Given the description of an element on the screen output the (x, y) to click on. 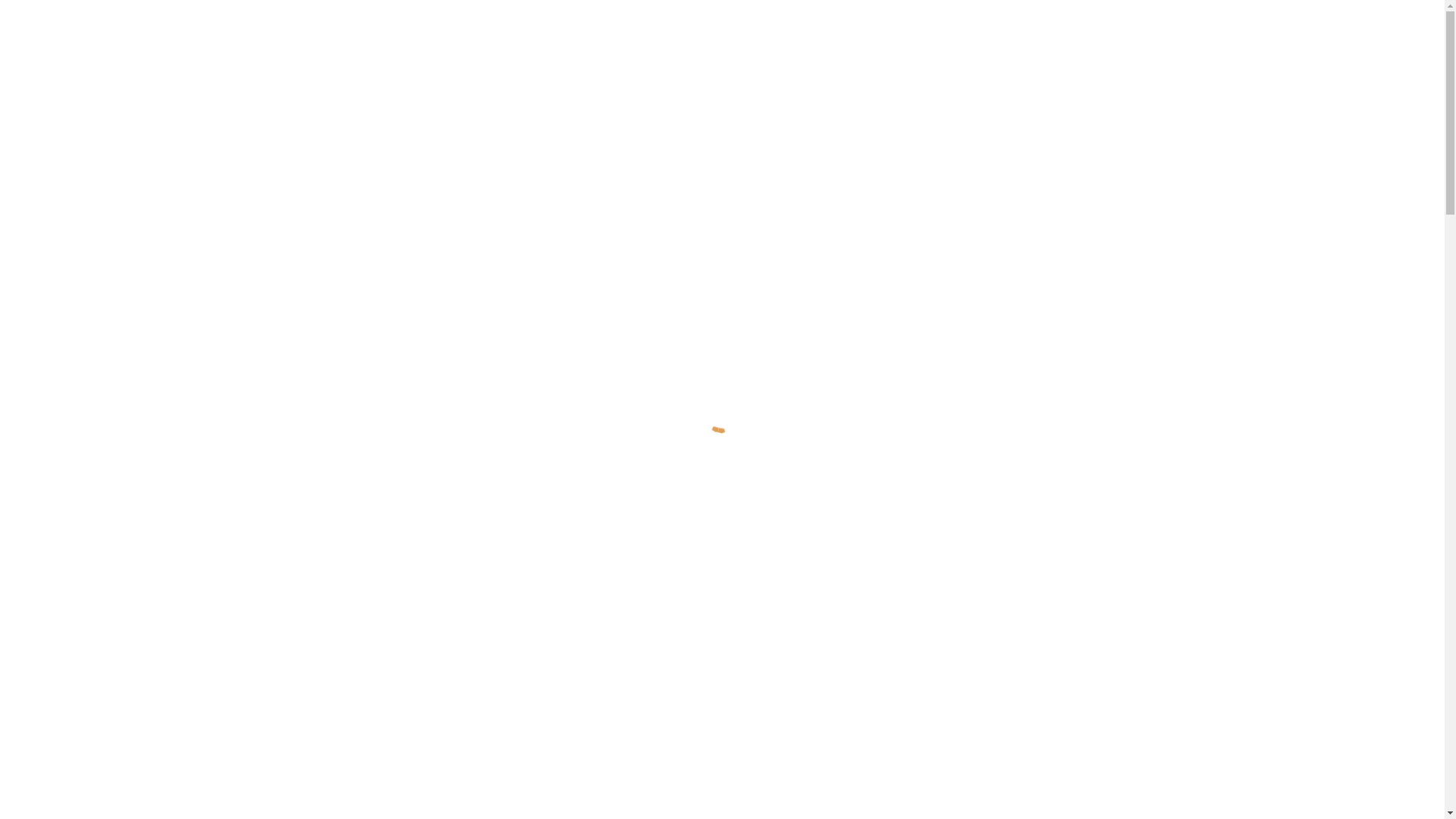
CONTACT US Element type: text (951, 50)
VIDEOS Element type: text (785, 50)
PHOTOBOOTH
HIRE Element type: text (1061, 430)
HOME Element type: text (660, 50)
LINKS Element type: text (885, 50)
CHECK AVAILABILITY Element type: text (1058, 50)
SPECIAL
OCCASIONS Element type: text (721, 430)
WEDDING
DJ & MC Element type: text (382, 430)
CONTACT US Element type: text (1032, 687)
ABOUT US Element type: text (721, 50)
NEWS Element type: text (838, 50)
